Given the description of an element on the screen output the (x, y) to click on. 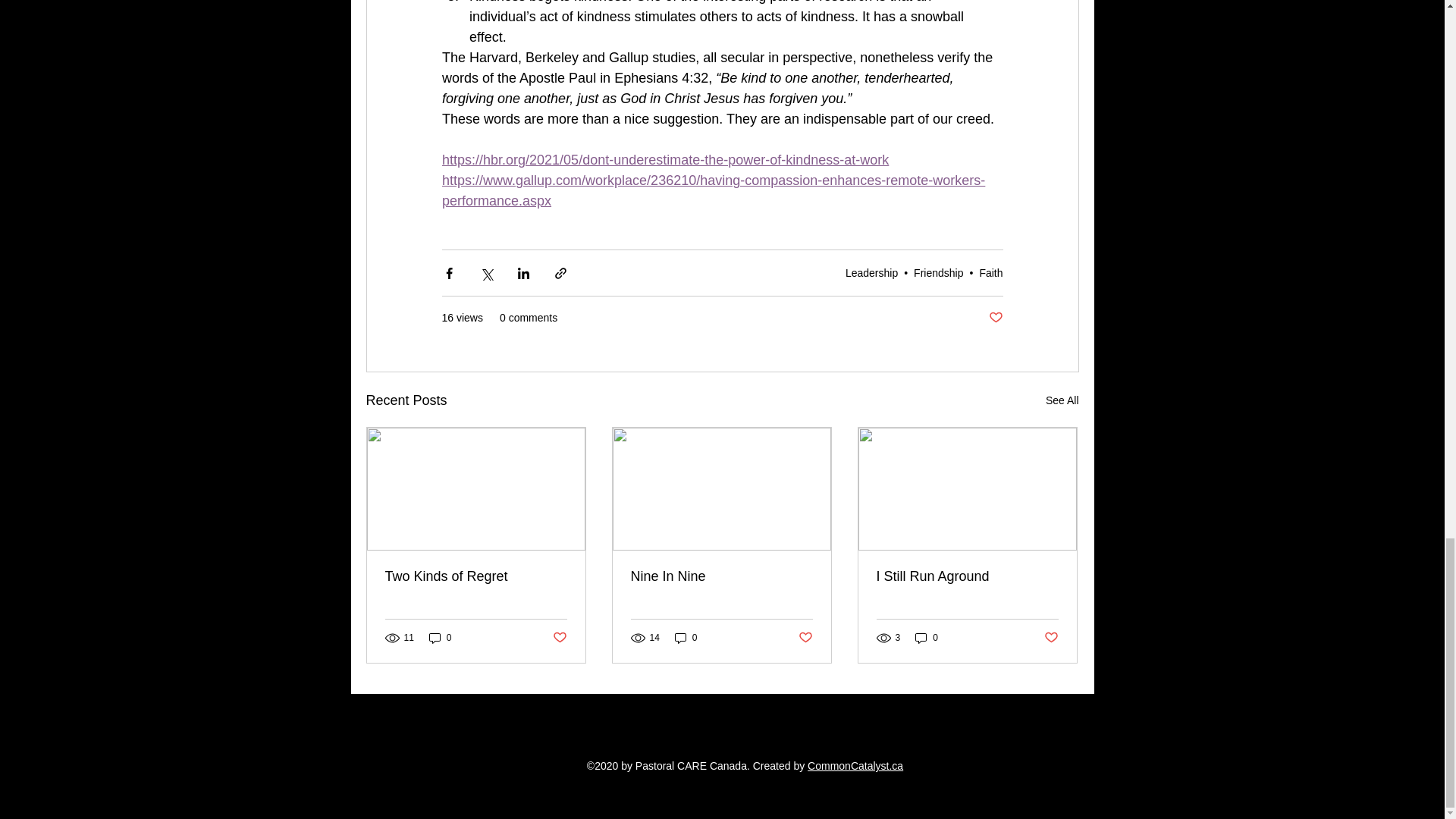
Post not marked as liked (804, 637)
I Still Run Aground (967, 576)
Faith (990, 272)
0 (440, 637)
Post not marked as liked (558, 637)
Friendship (938, 272)
Leadership (871, 272)
Post not marked as liked (995, 317)
0 (926, 637)
Two Kinds of Regret (476, 576)
